Given the description of an element on the screen output the (x, y) to click on. 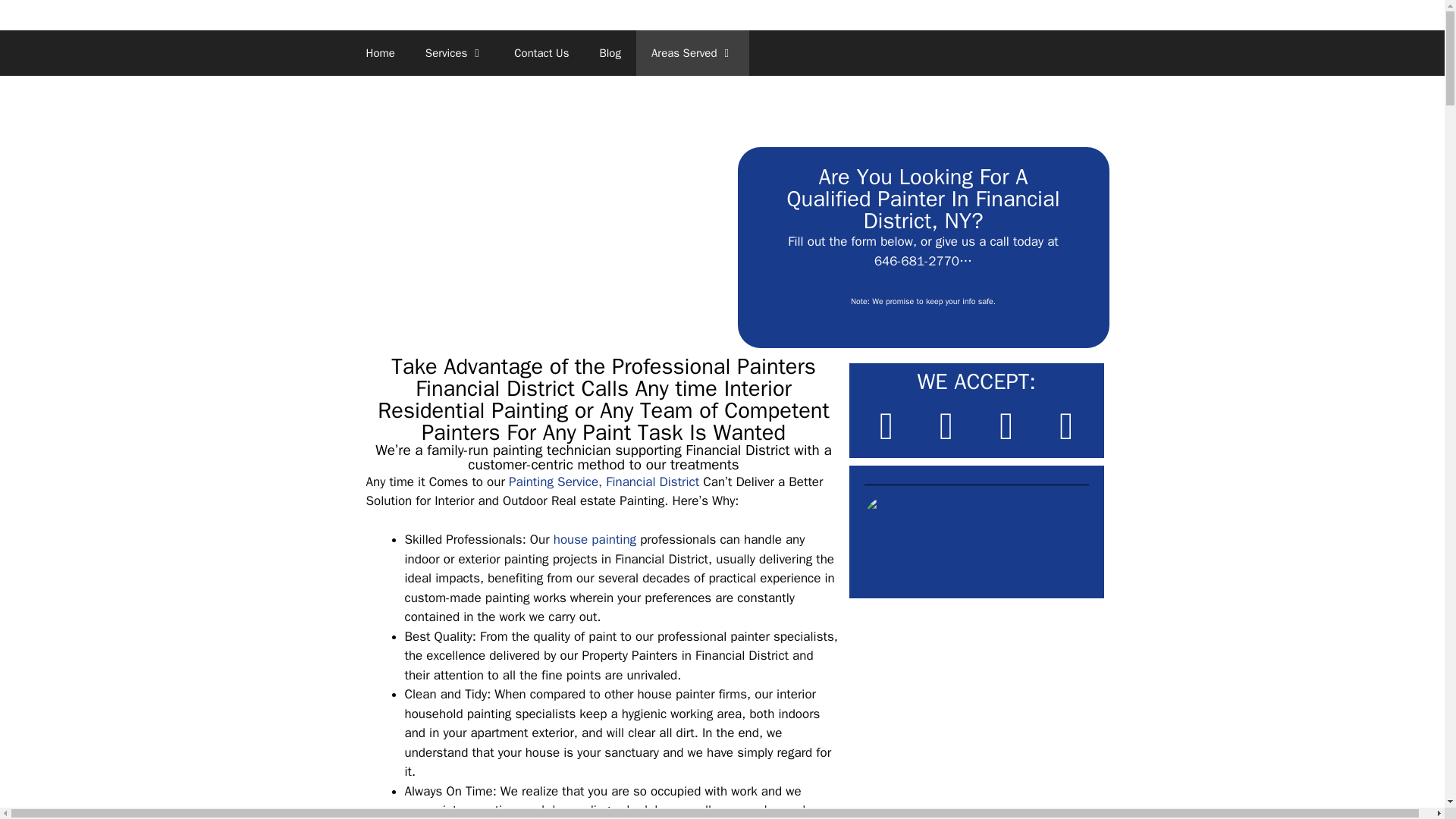
Services (454, 53)
Home (379, 53)
